Given the description of an element on the screen output the (x, y) to click on. 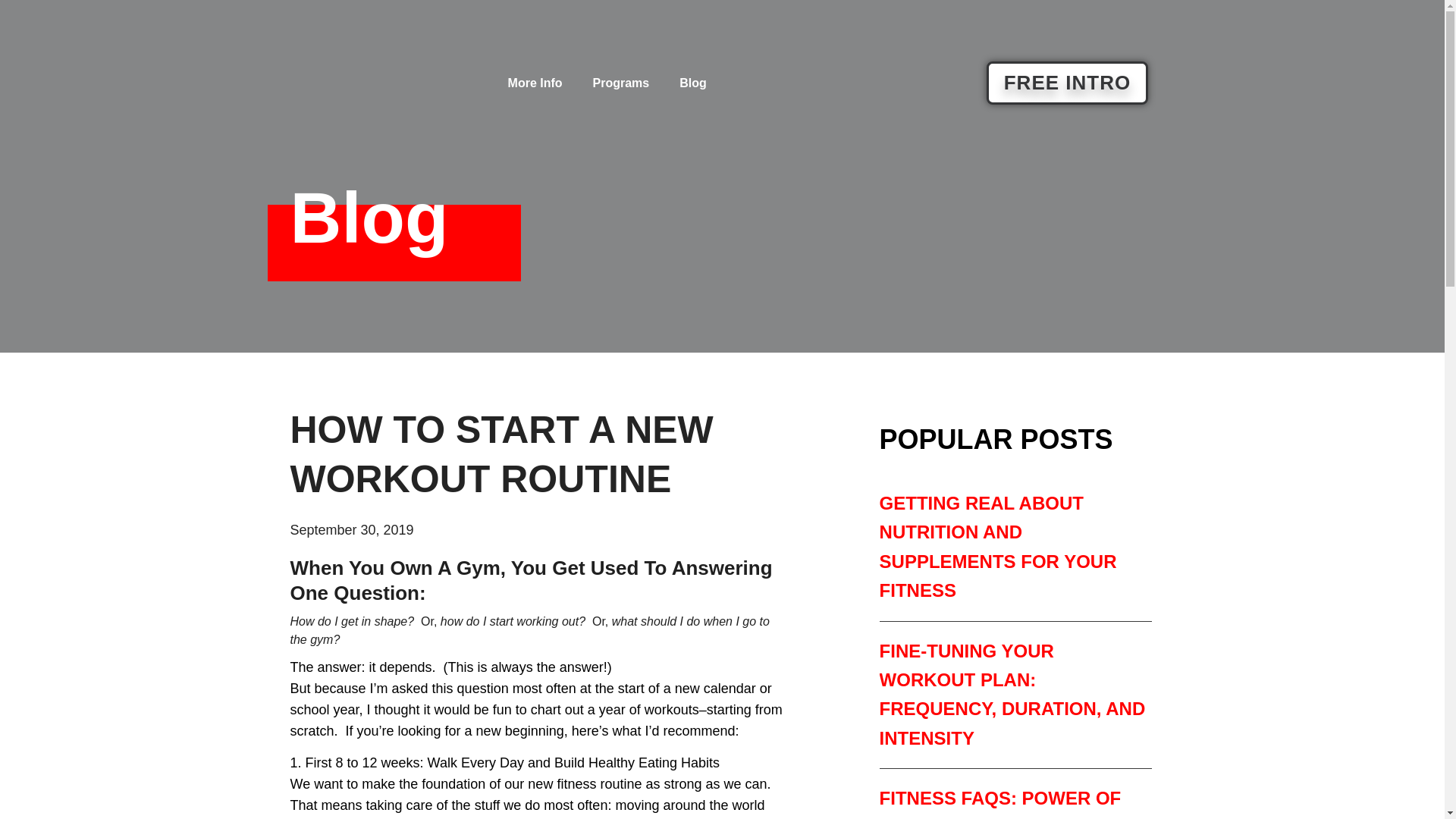
More Info (535, 83)
FREE INTRO (1067, 82)
Blog (692, 83)
Programs (621, 83)
FITNESS FAQS: POWER OF PERSONALIZED PROGRAMS (1006, 803)
